Given the description of an element on the screen output the (x, y) to click on. 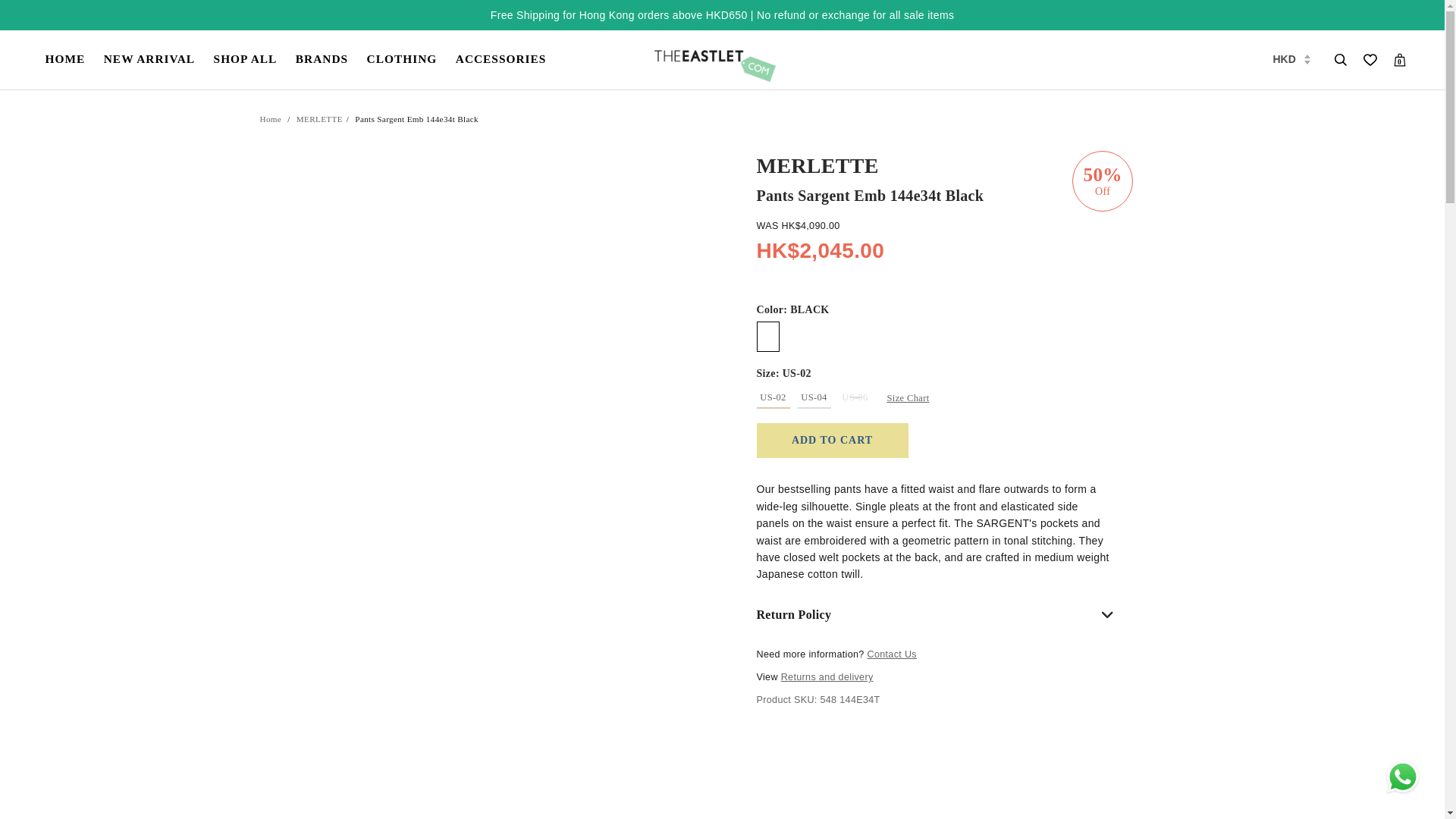
NEW ARRIVAL (149, 59)
US-06 (855, 396)
SHOP ALL (246, 59)
Back to the frontpage (270, 119)
US-02 (773, 396)
US-04 (814, 396)
BRANDS (321, 59)
